Given the description of an element on the screen output the (x, y) to click on. 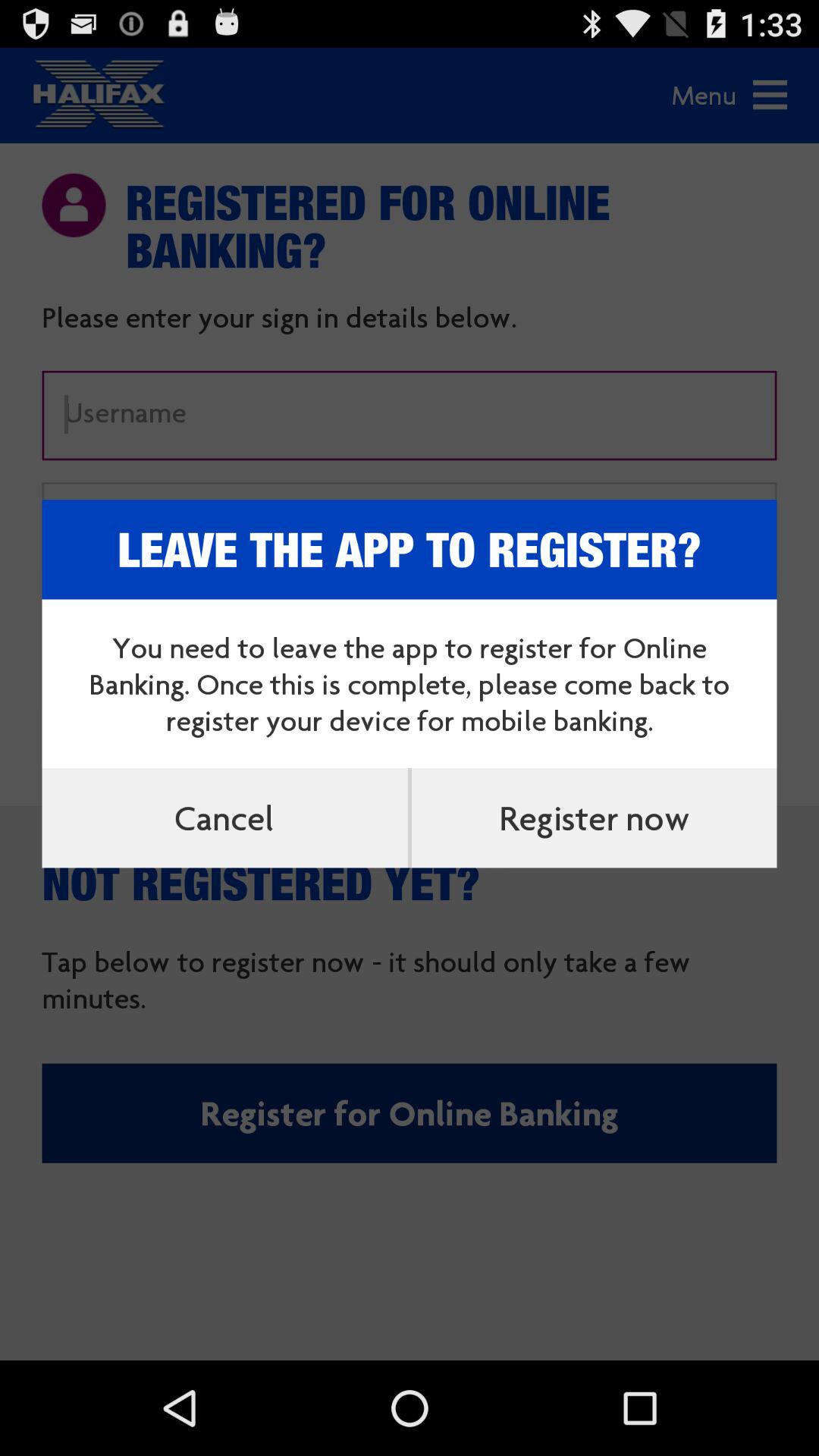
launch icon below the you need to (224, 817)
